Given the description of an element on the screen output the (x, y) to click on. 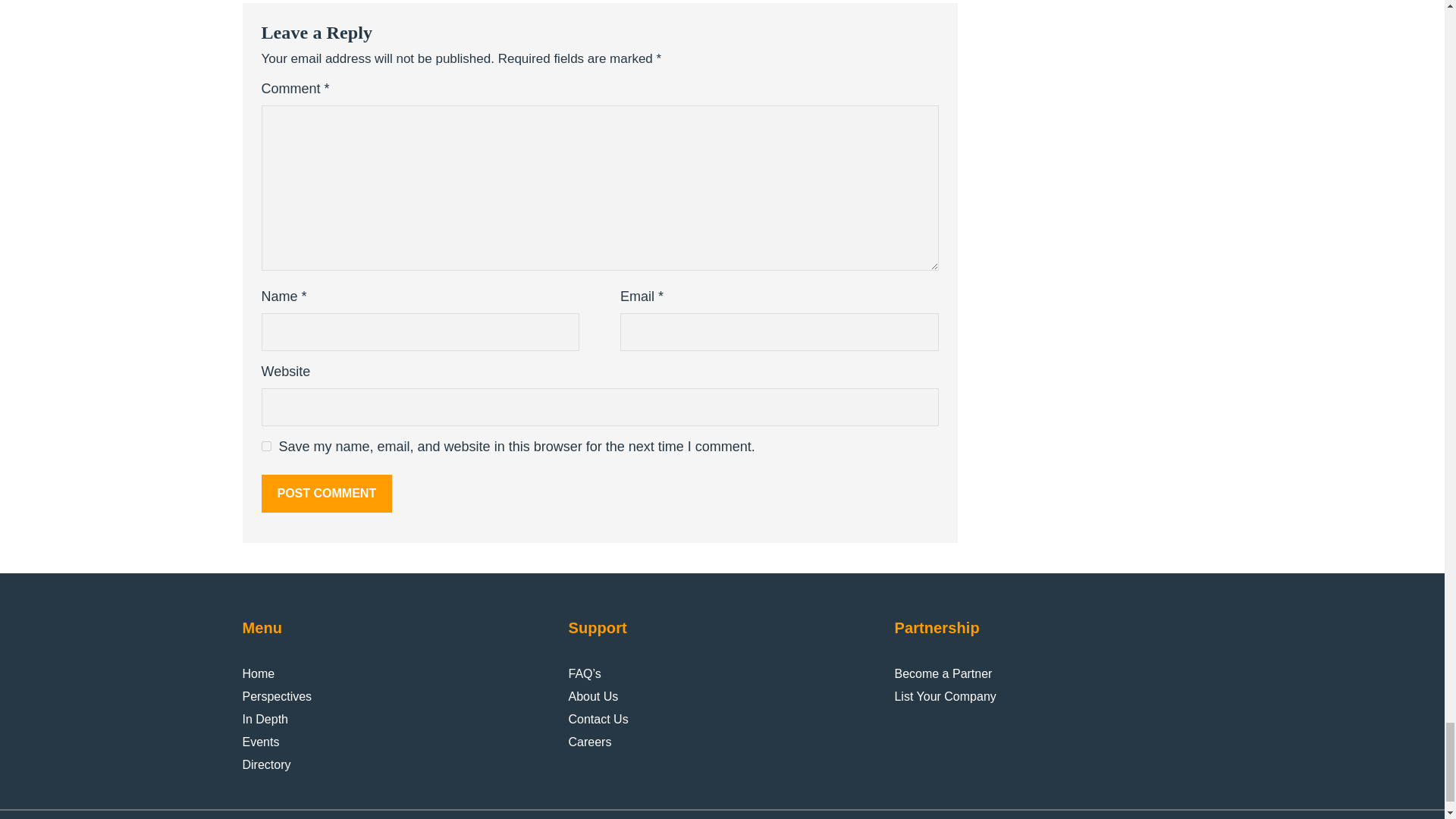
Post Comment (325, 493)
Perspectives (278, 696)
yes (265, 446)
Directory (267, 764)
About Us (592, 696)
Events (261, 742)
Home (259, 674)
Post Comment (325, 493)
In Depth (265, 719)
